Given the description of an element on the screen output the (x, y) to click on. 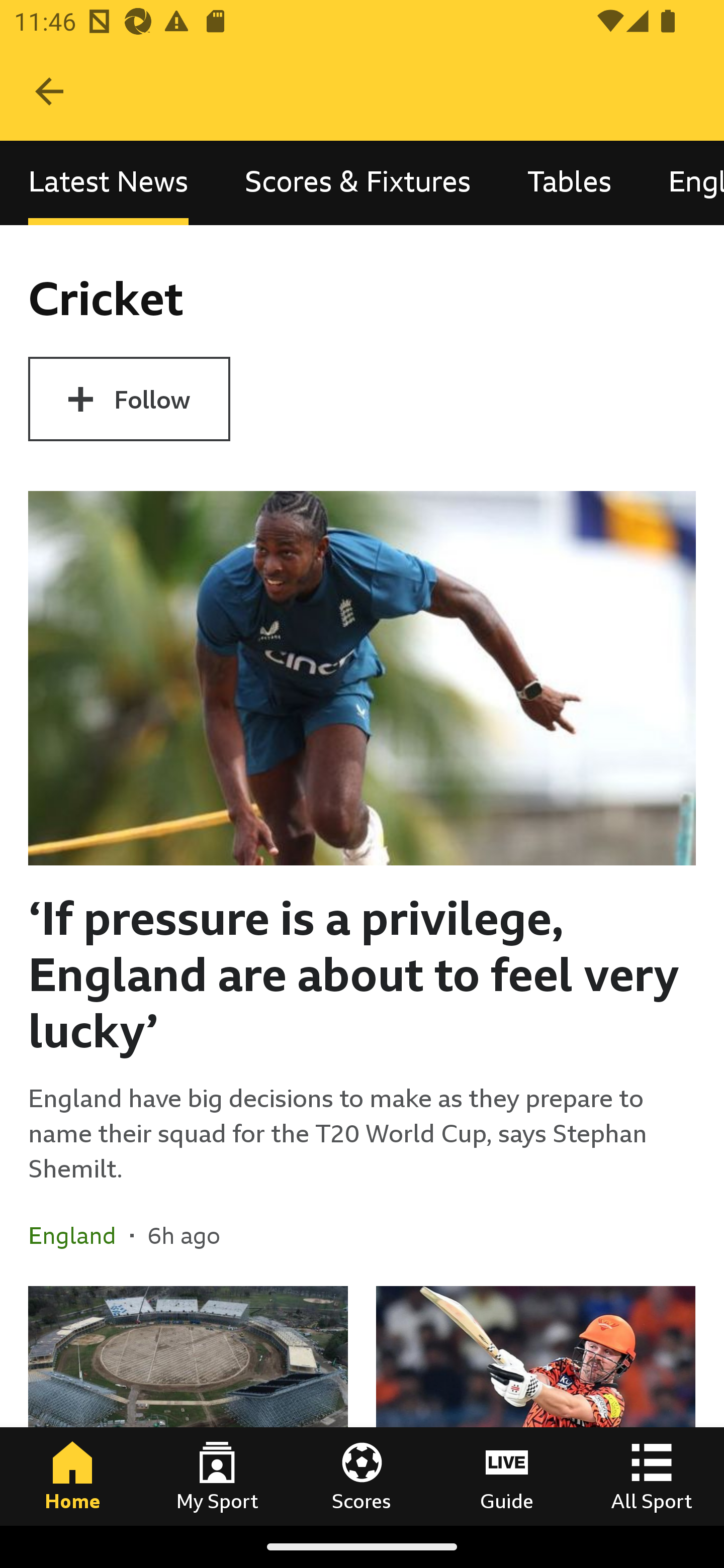
Navigate up (49, 91)
Latest News, selected Latest News (108, 183)
Scores & Fixtures (357, 183)
Tables (569, 183)
Follow Cricket Follow (129, 398)
England In the section England (79, 1234)
The batting blitz turning cricket into baseball (535, 1405)
My Sport (216, 1475)
Scores (361, 1475)
Guide (506, 1475)
All Sport (651, 1475)
